Given the description of an element on the screen output the (x, y) to click on. 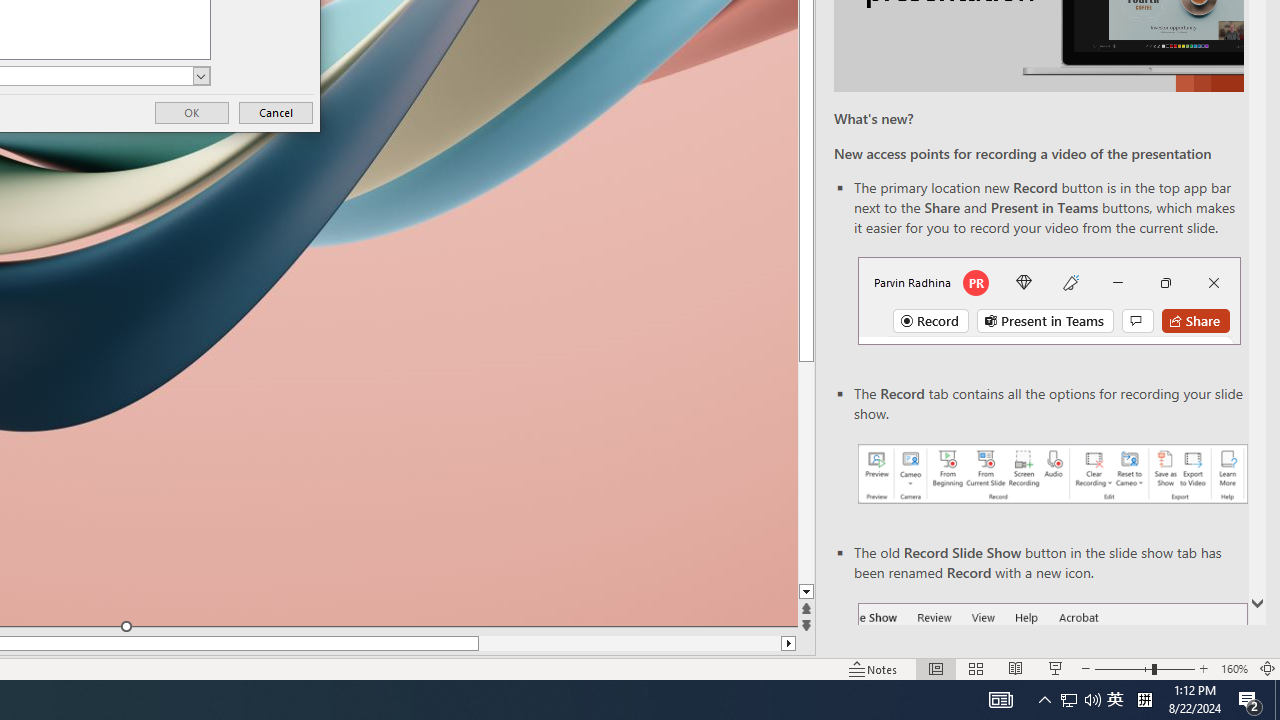
OK (191, 112)
